Given the description of an element on the screen output the (x, y) to click on. 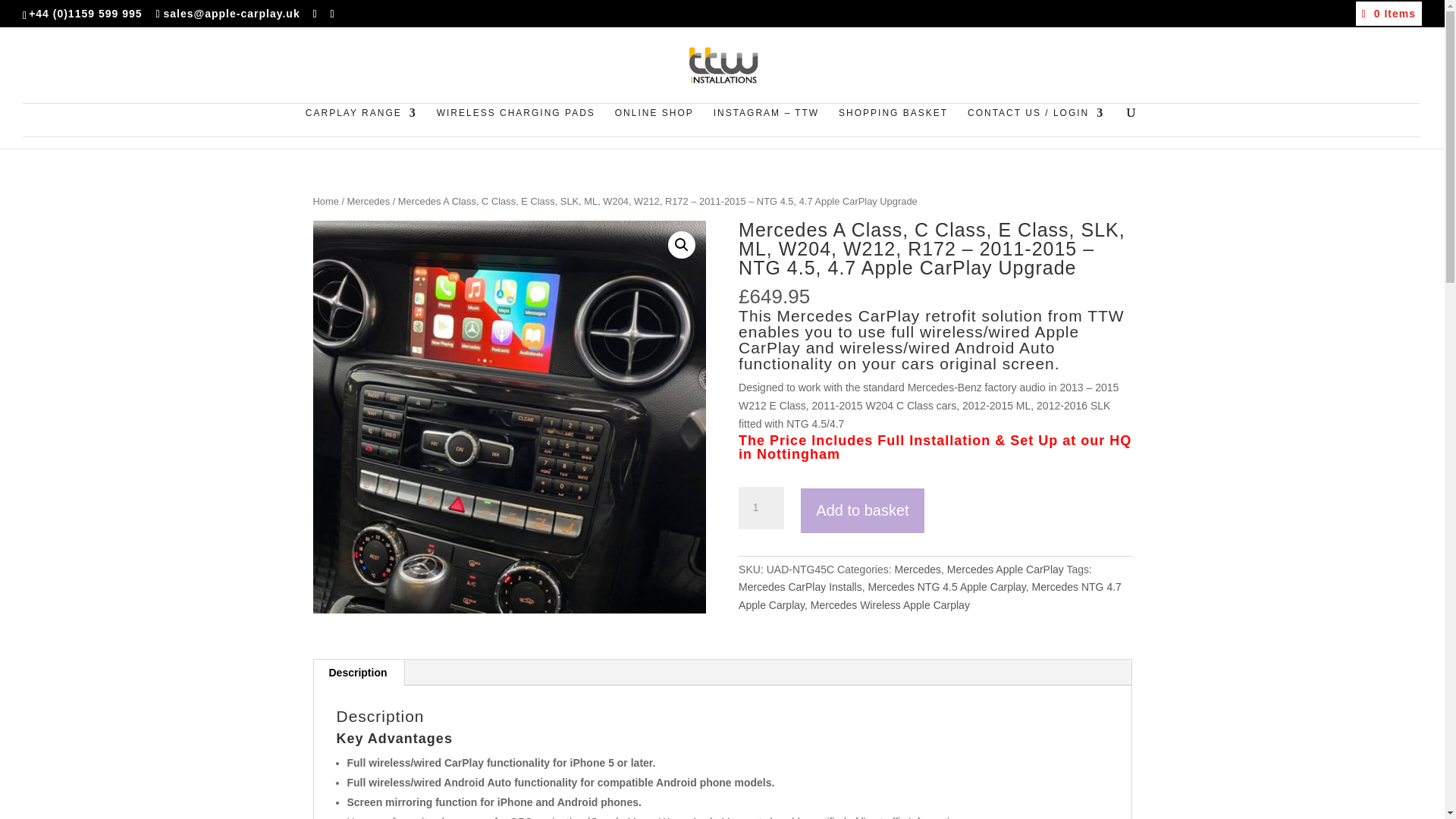
CARPLAY RANGE (360, 121)
SHOPPING BASKET (892, 121)
WIRELESS CHARGING PADS (515, 121)
0 Items (1388, 13)
1 (761, 507)
ONLINE SHOP (654, 121)
